Given the description of an element on the screen output the (x, y) to click on. 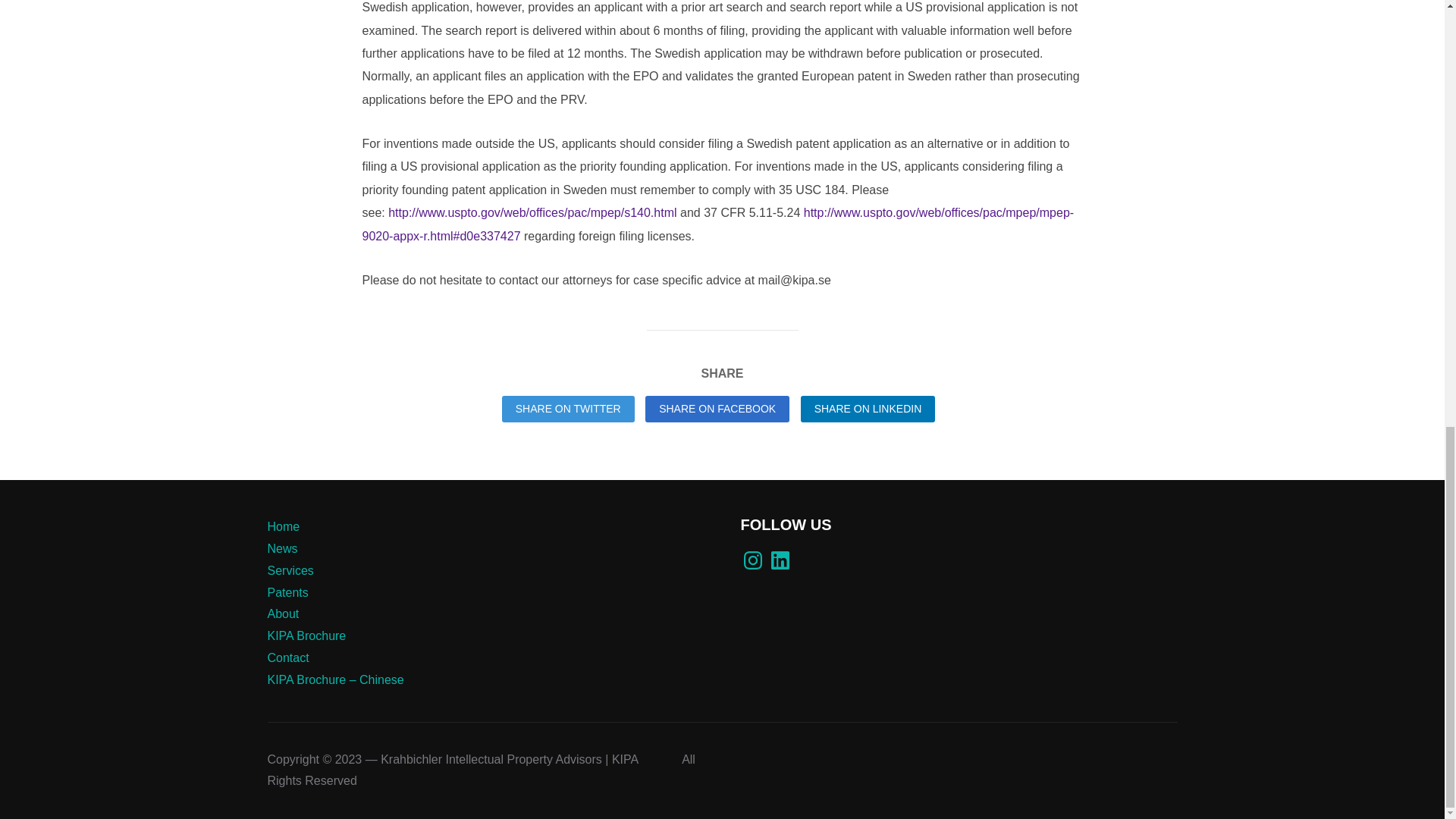
Share this on Facebook (717, 408)
Tweet this on Twitter (568, 408)
Share on LinkedIn (868, 408)
